Given the description of an element on the screen output the (x, y) to click on. 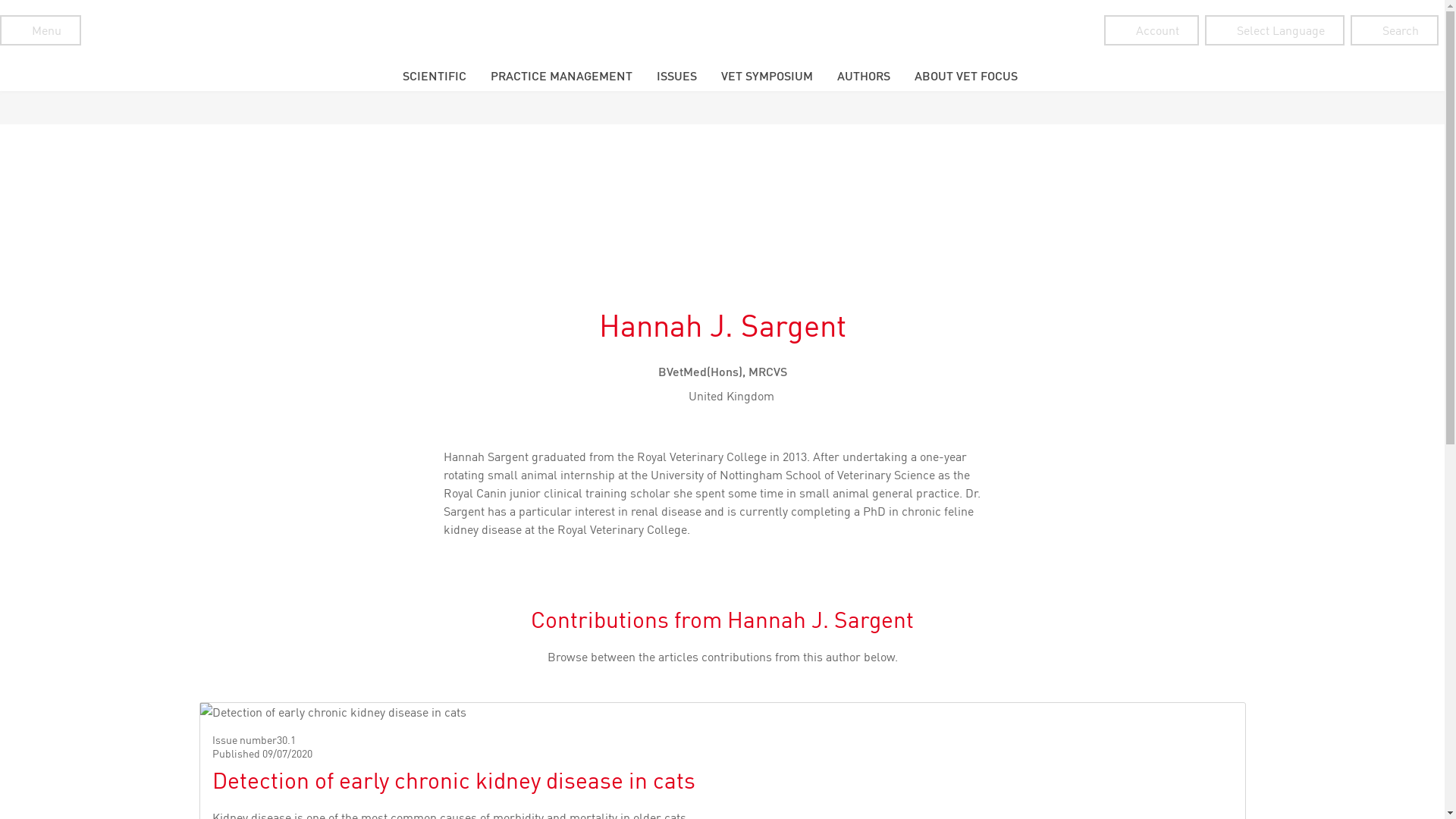
About Vet Focus (965, 75)
AUTHORS (863, 75)
Menu (40, 30)
Scientific (434, 75)
ISSUES (676, 75)
Issues (676, 75)
Select Language (1274, 30)
Search (1394, 30)
VET SYMPOSIUM (766, 75)
SCIENTIFIC (434, 75)
Authors (863, 75)
ABOUT VET FOCUS (965, 75)
PRACTICE MANAGEMENT (560, 75)
Account (1150, 30)
Practice Management (560, 75)
